Given the description of an element on the screen output the (x, y) to click on. 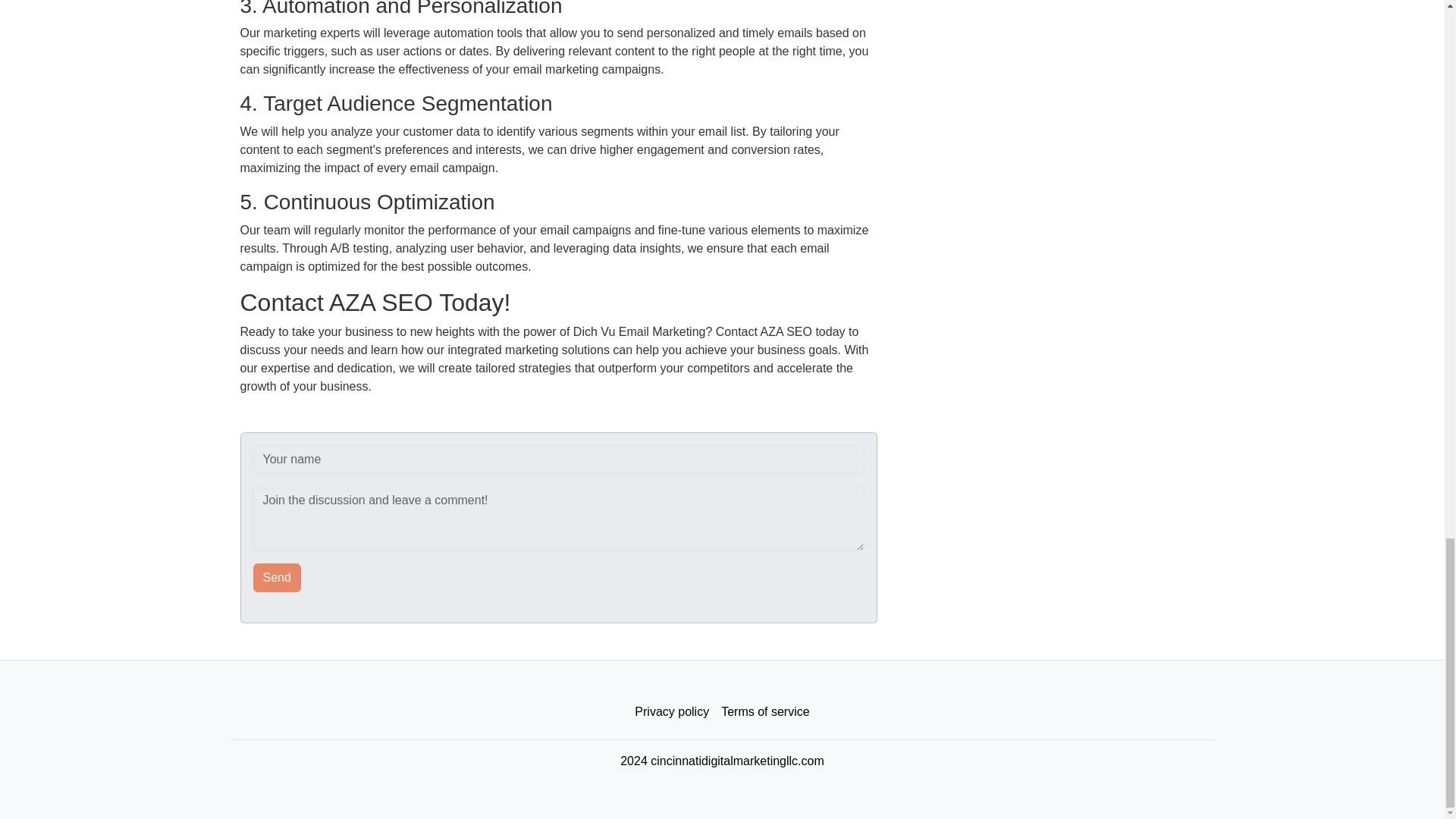
Terms of service (764, 711)
Send (277, 577)
Privacy policy (671, 711)
Send (277, 577)
